Given the description of an element on the screen output the (x, y) to click on. 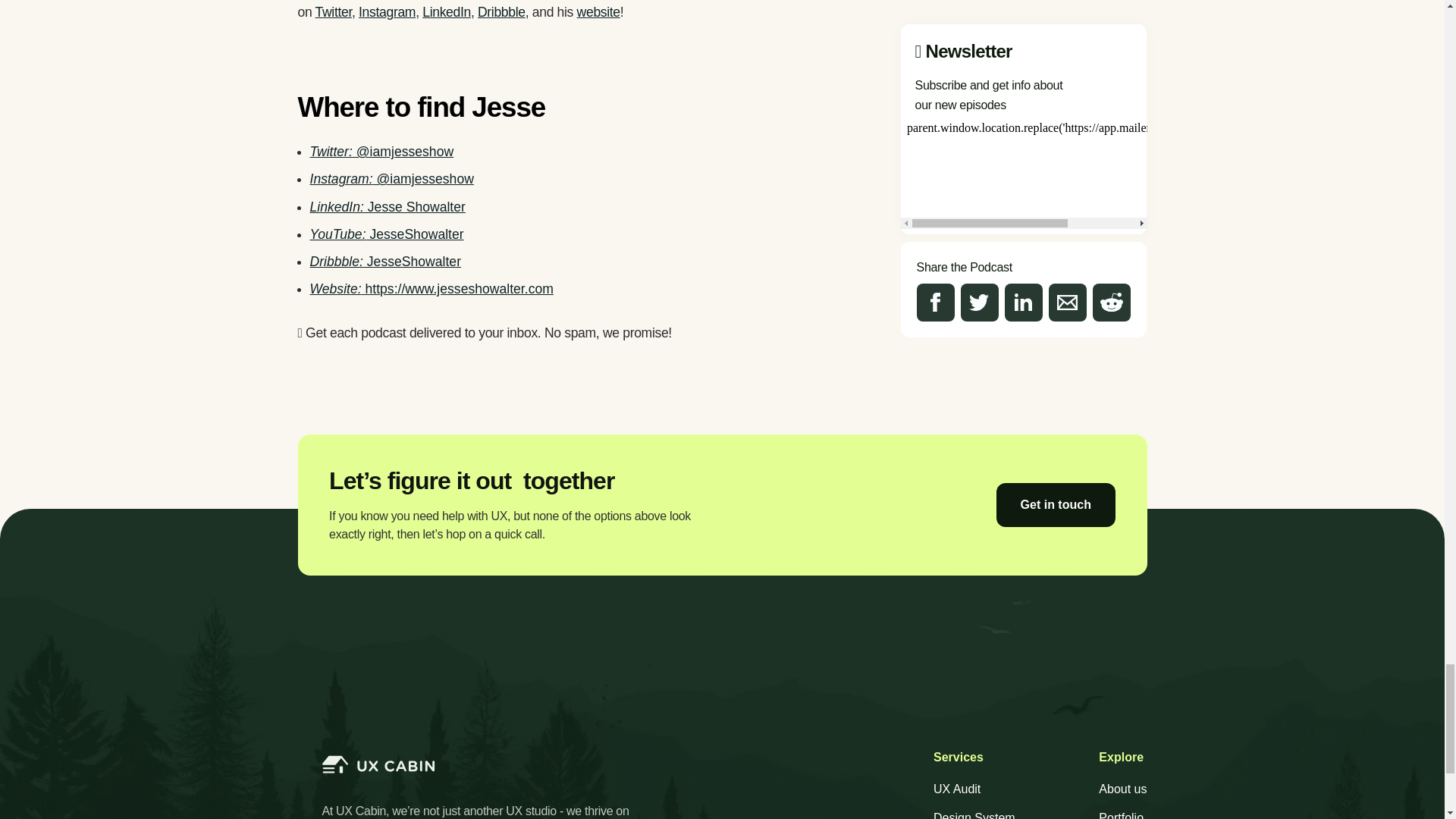
Twitter (333, 11)
LinkedIn (446, 11)
website (598, 11)
Dribbble: JesseShowalter (384, 261)
LinkedIn: Jesse Showalter (386, 206)
Dribbble (501, 11)
YouTube: JesseShowalter (385, 233)
Instagram (386, 11)
